Given the description of an element on the screen output the (x, y) to click on. 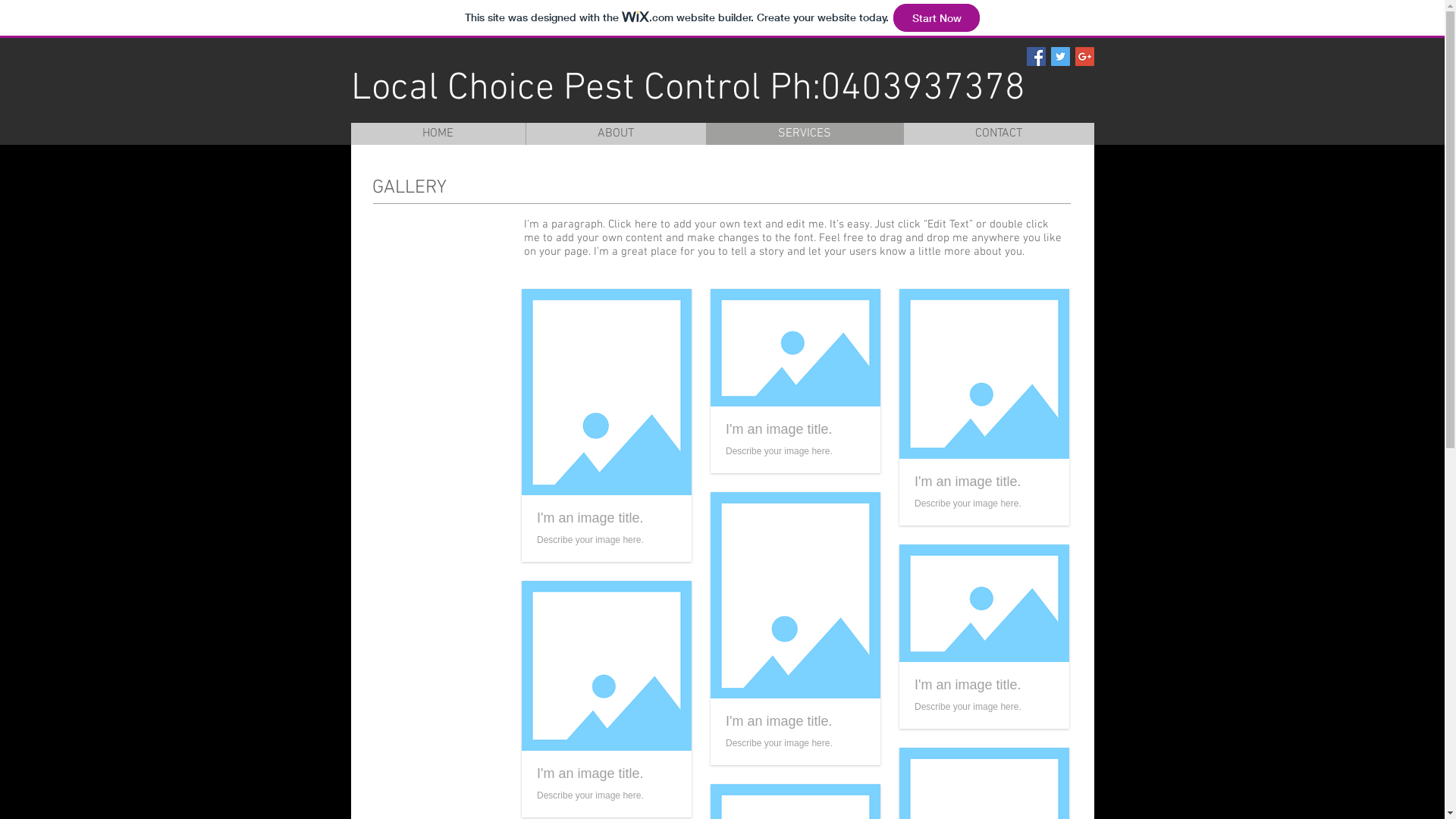
ABOUT Element type: text (614, 133)
SERVICES Element type: text (803, 133)
CONTACT Element type: text (997, 133)
HOME Element type: text (437, 133)
